Given the description of an element on the screen output the (x, y) to click on. 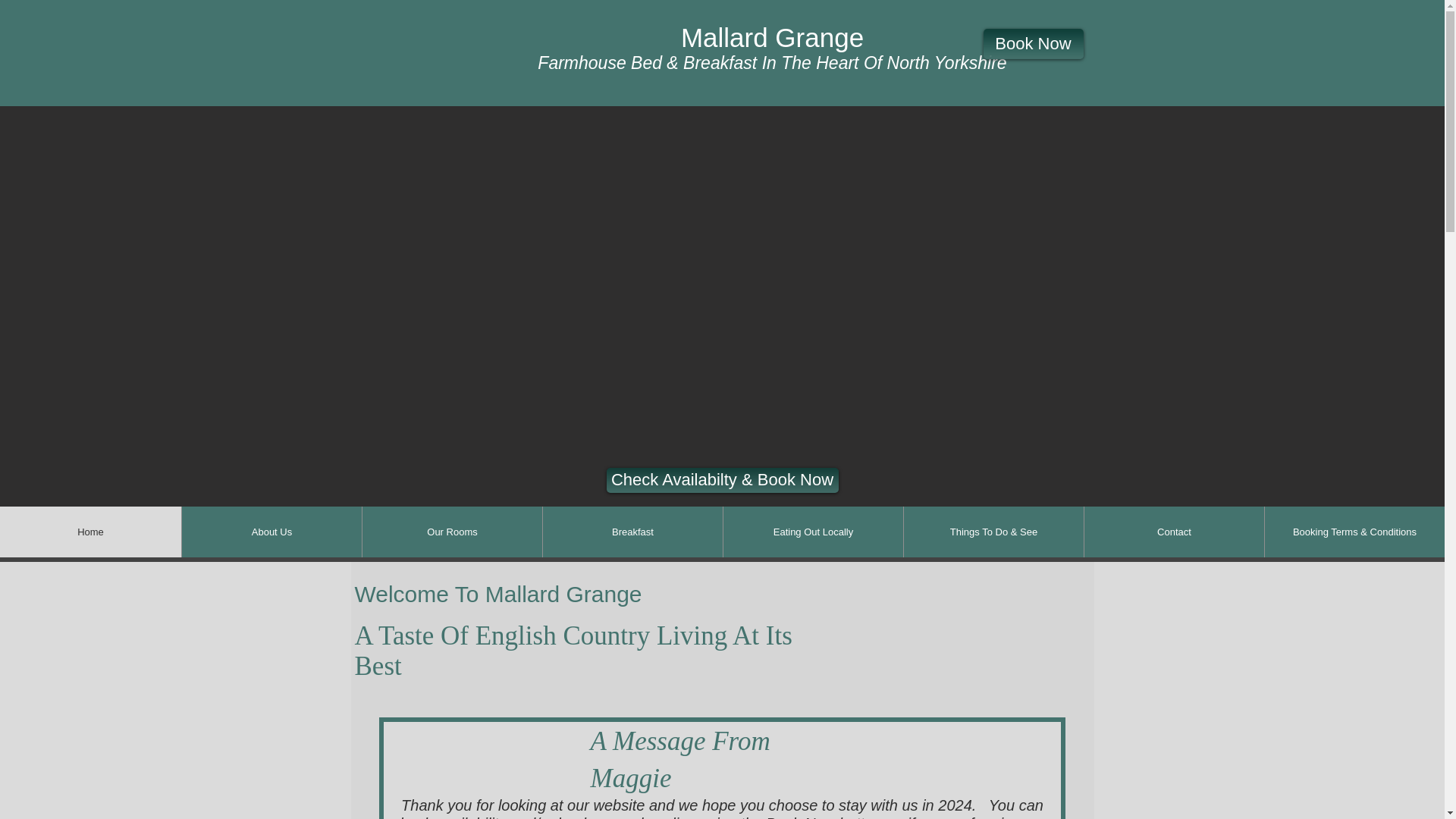
Home (90, 531)
Our Rooms (451, 531)
Eating Out Locally (812, 531)
Contact (1173, 531)
Breakfast (631, 531)
About Us (270, 531)
Book Now (1032, 43)
